Given the description of an element on the screen output the (x, y) to click on. 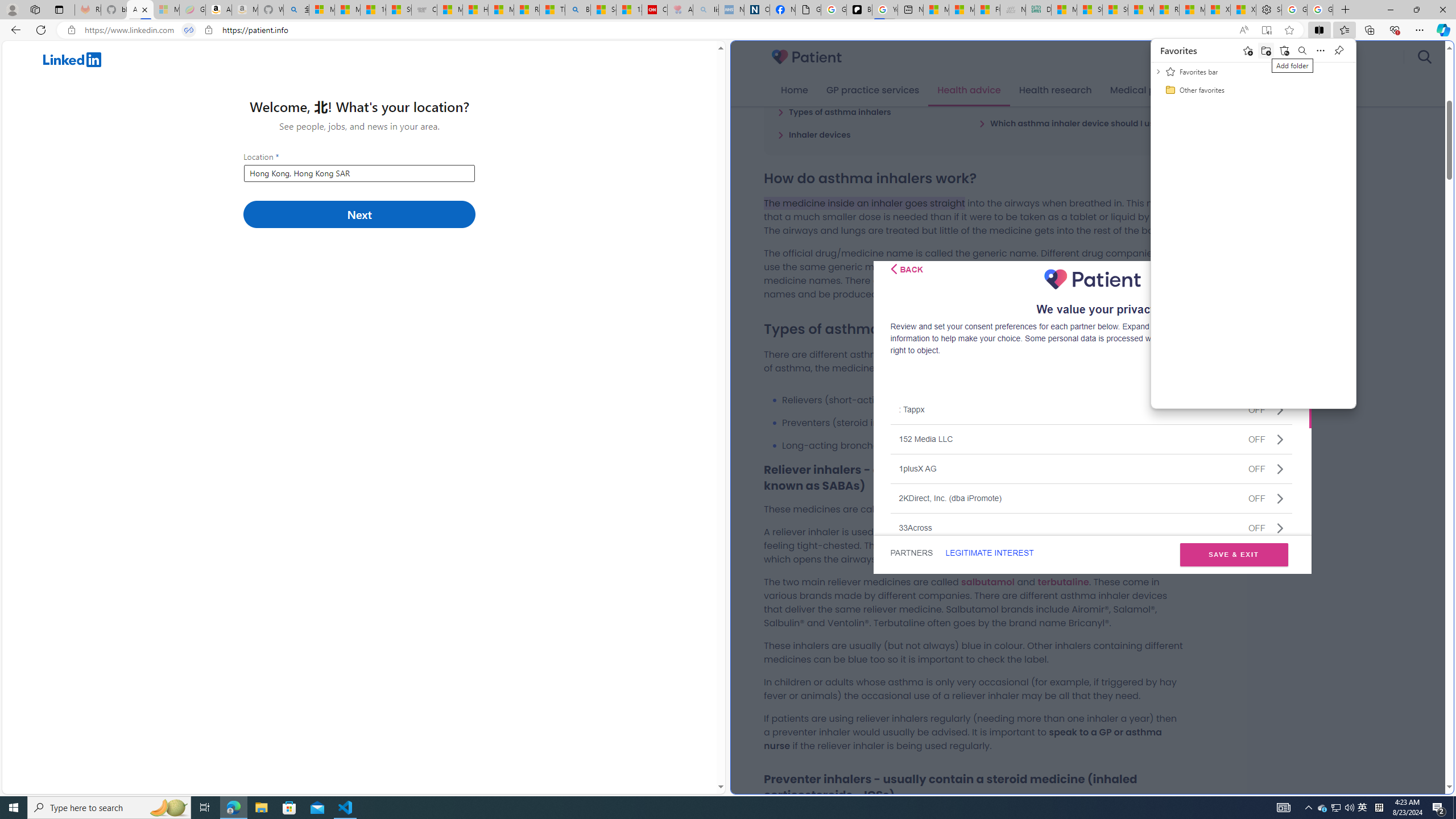
2KDirect, Inc. (dba iPromote)OFF (1090, 498)
Class: css-jswnc6 (1280, 527)
Health advice (969, 90)
GP practice services (872, 90)
